Given the description of an element on the screen output the (x, y) to click on. 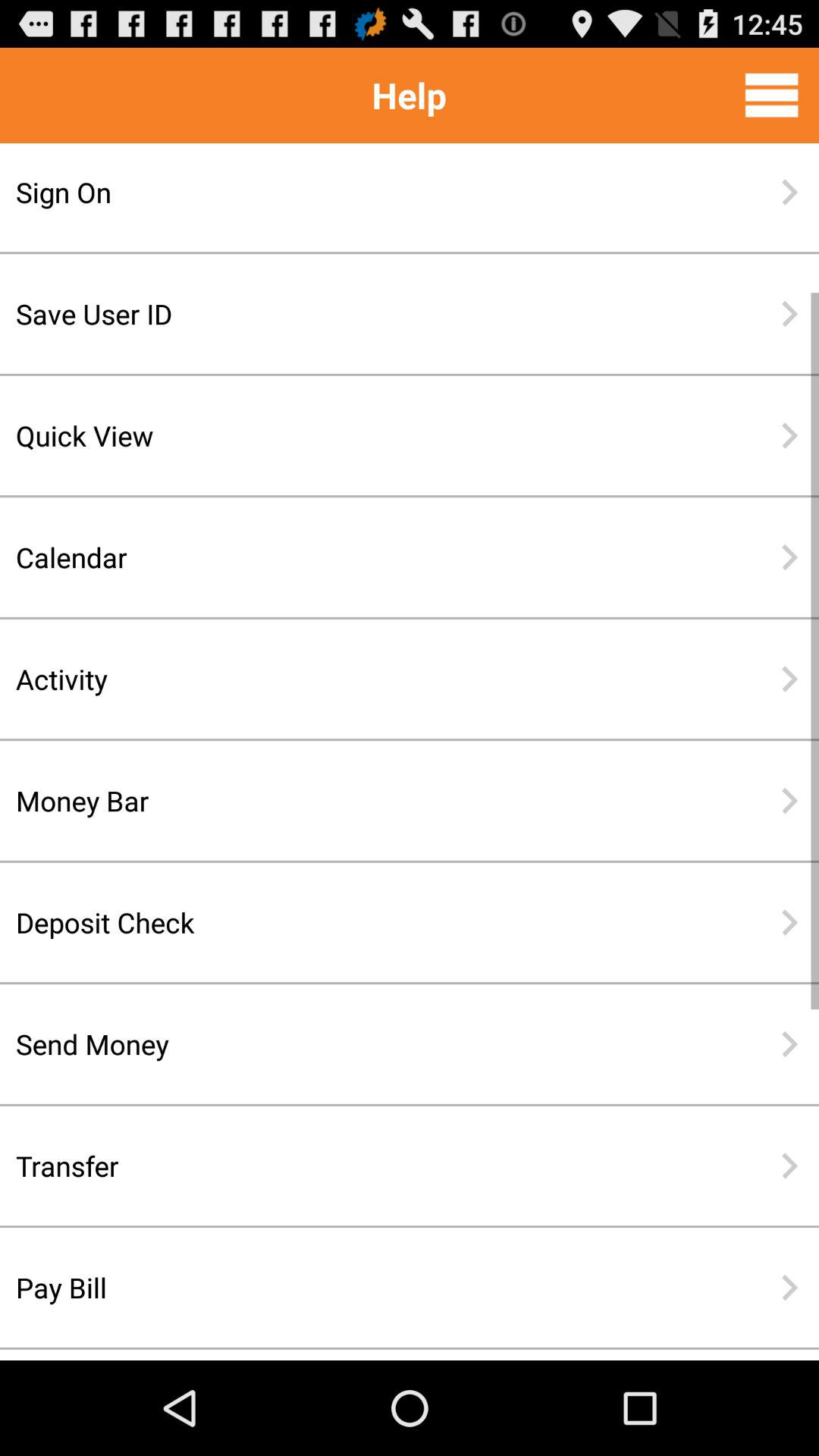
jump to money bar item (359, 800)
